Given the description of an element on the screen output the (x, y) to click on. 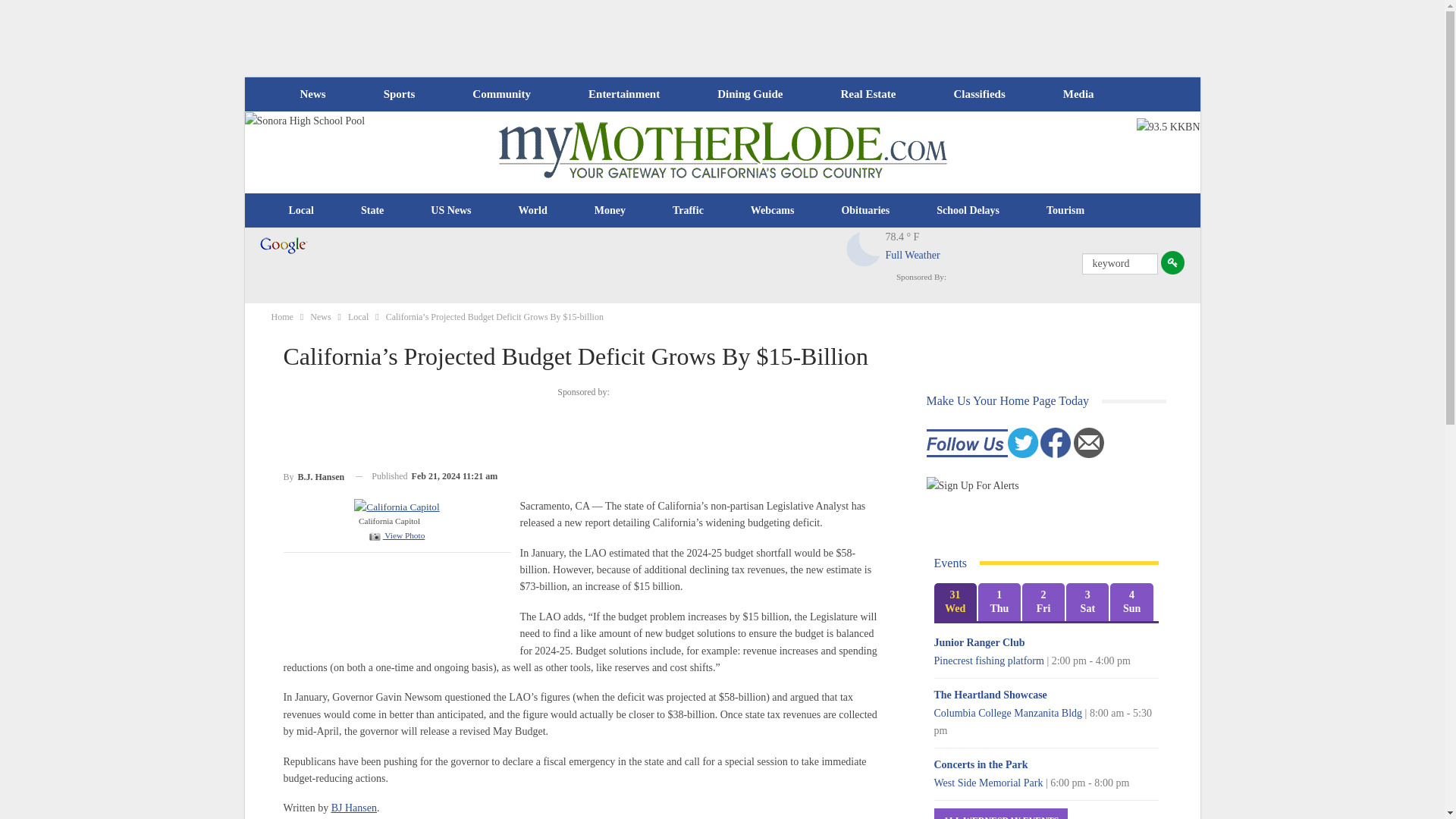
Submit (1172, 262)
Traffic (687, 210)
Community (501, 93)
Webcams (772, 210)
Clear (864, 249)
Obituaries (865, 210)
keyword (1119, 263)
Browse Author Articles (314, 476)
US News (451, 210)
Real Estate (868, 93)
Classifieds (979, 93)
